Given the description of an element on the screen output the (x, y) to click on. 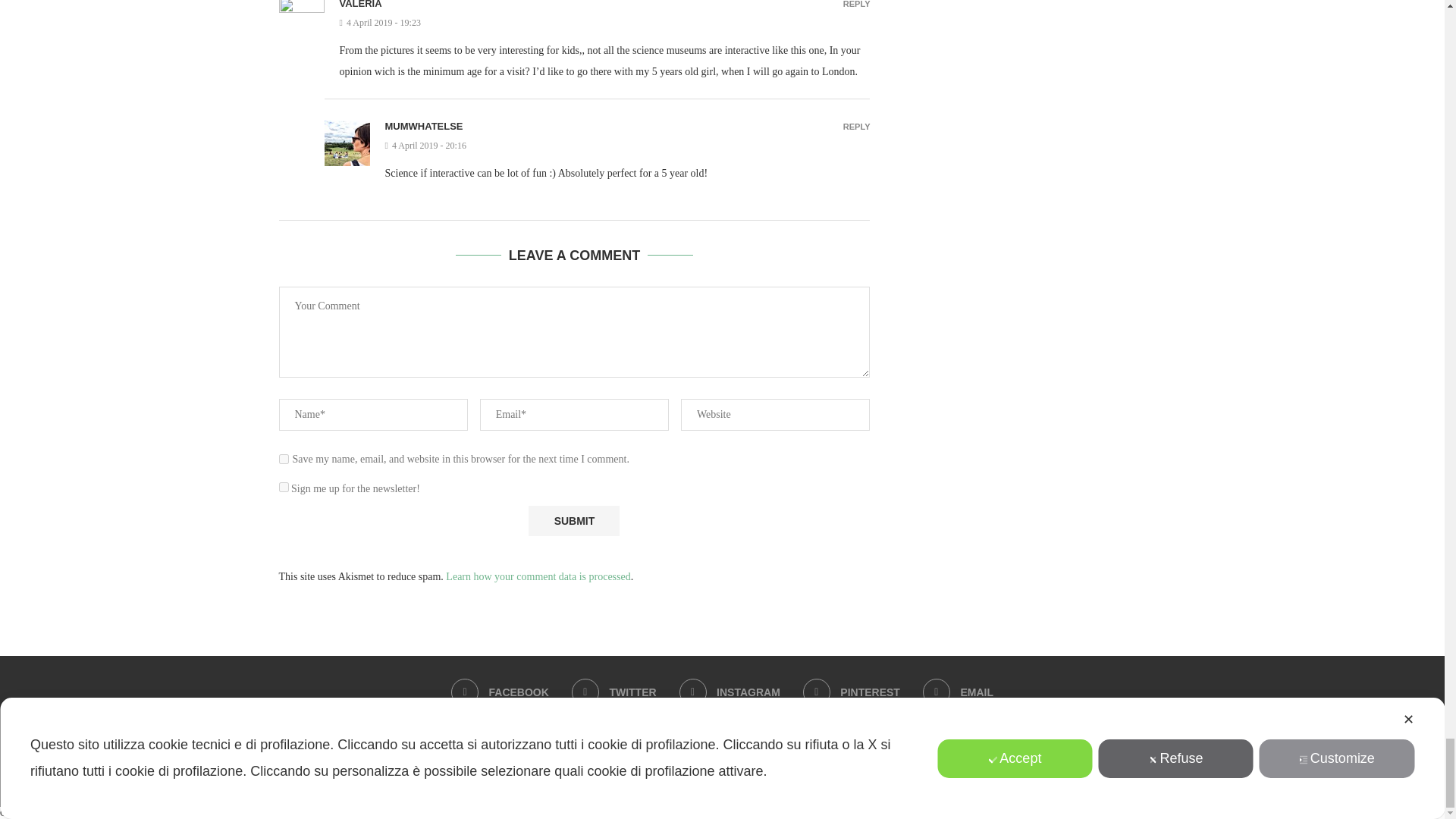
1 (283, 487)
Submit (574, 521)
yes (283, 459)
